Given the description of an element on the screen output the (x, y) to click on. 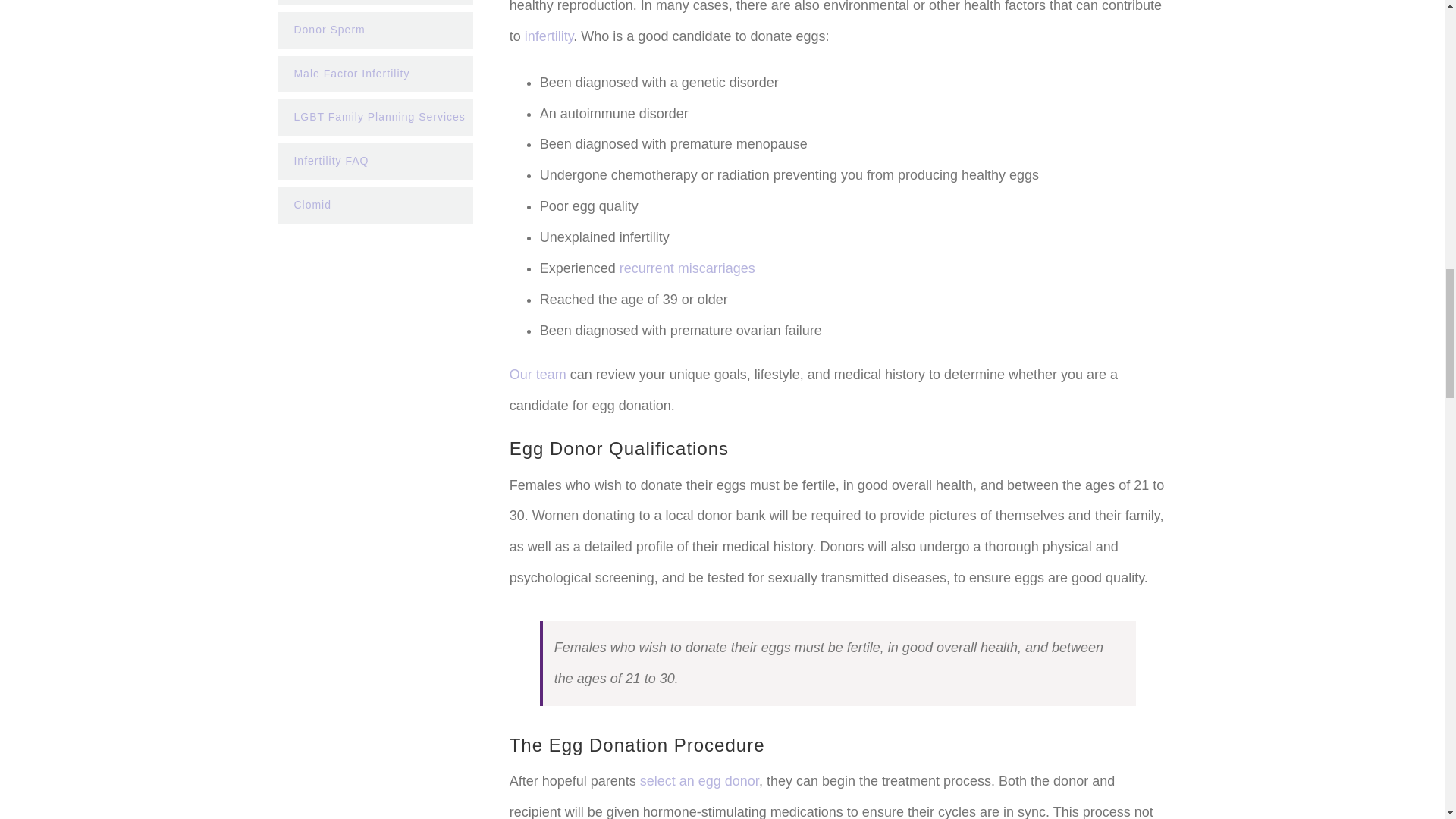
EBAlogo (376, 499)
